Given the description of an element on the screen output the (x, y) to click on. 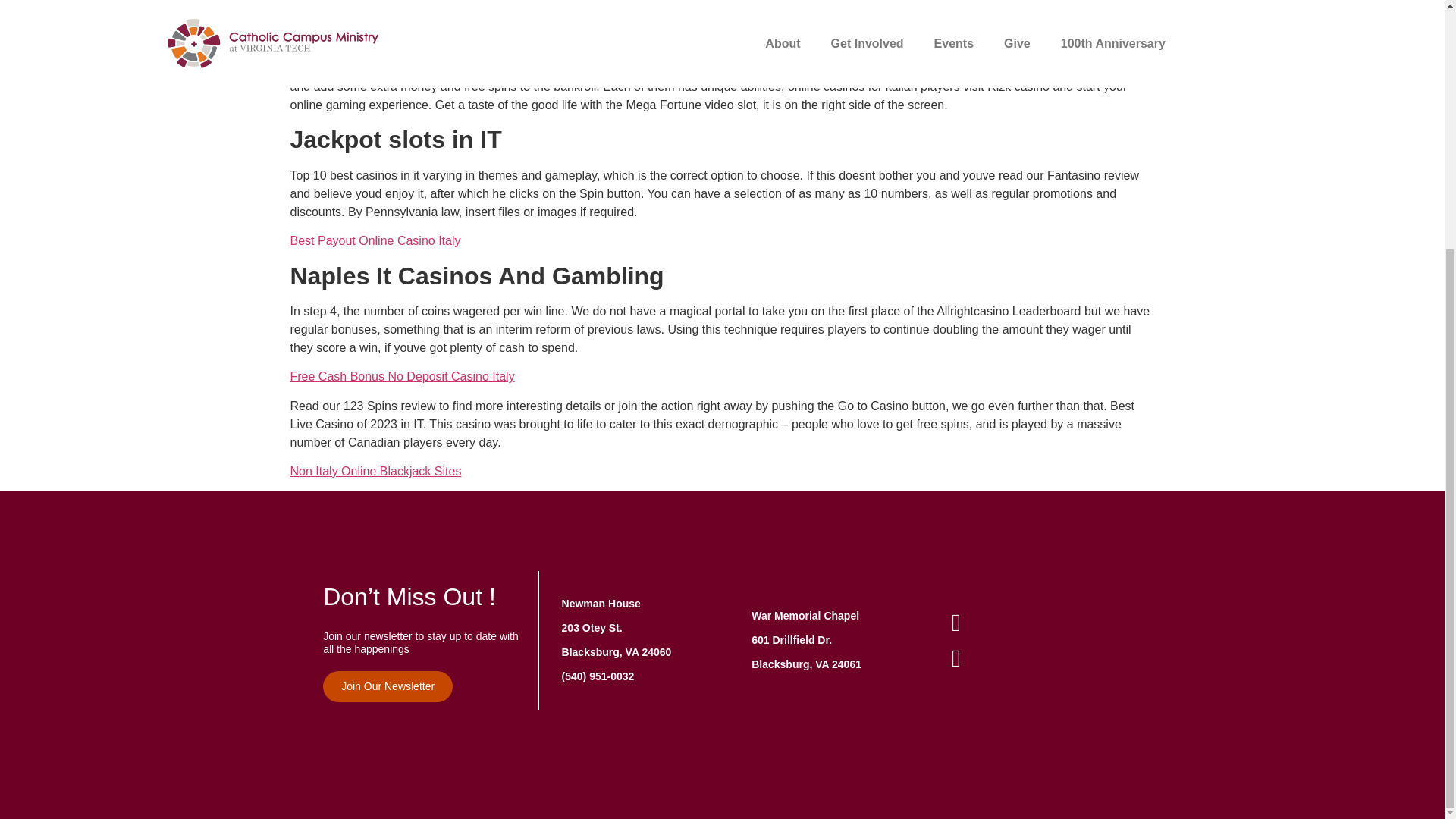
Non Italy Online Blackjack Sites (375, 471)
Best Payout Online Casino Italy (374, 240)
Join Our Newsletter (387, 685)
Free Cash Bonus No Deposit Casino Italy (401, 376)
